Given the description of an element on the screen output the (x, y) to click on. 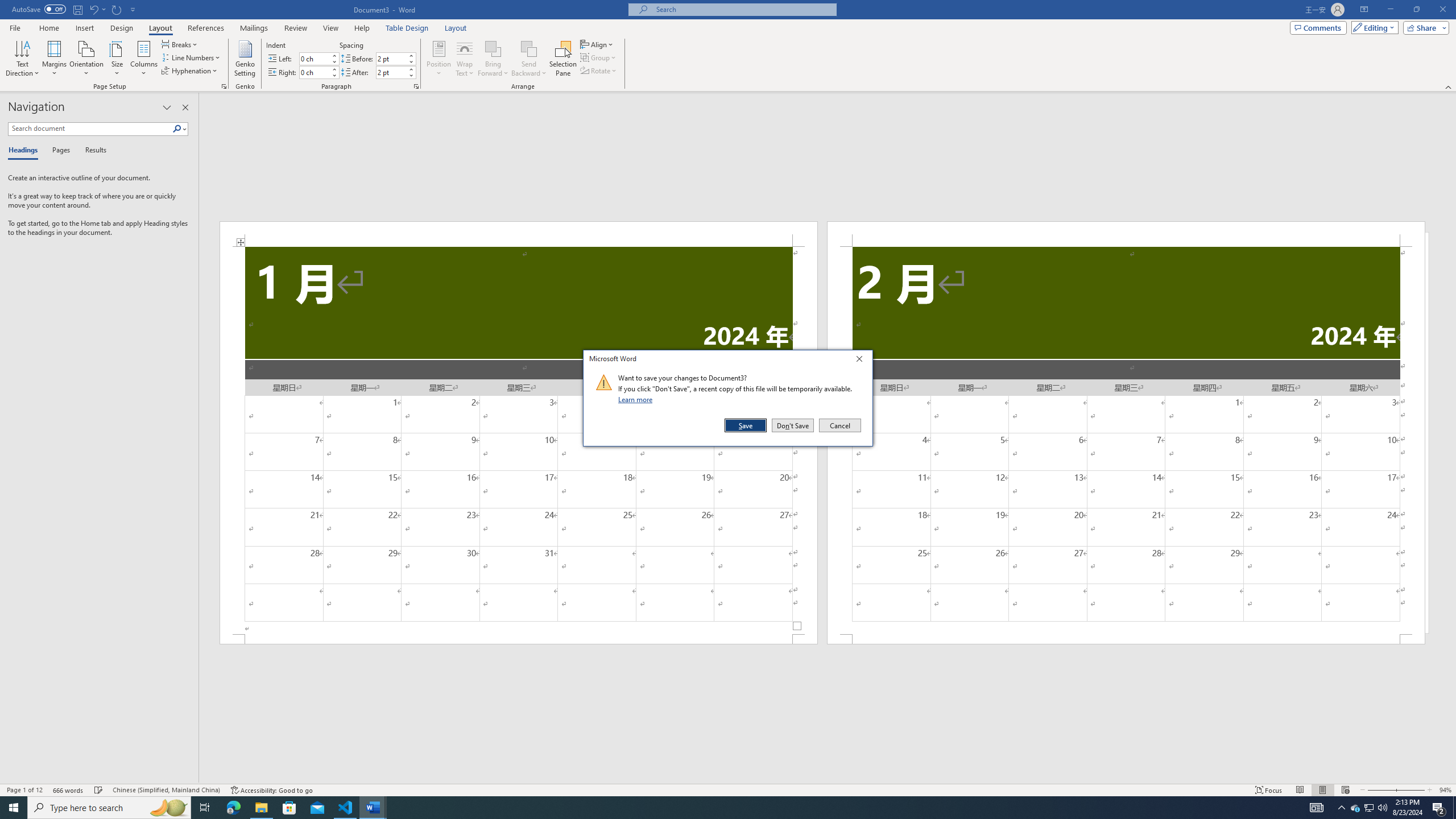
Search (177, 128)
File Explorer - 1 running window (261, 807)
Spelling and Grammar Check Checking (98, 790)
Undo Increase Indent (92, 9)
Table Design (407, 28)
View (330, 28)
Action Center, 2 new notifications (1439, 807)
Class: NetUIScrollBar (827, 778)
Visual Studio Code - 1 running window (345, 807)
Home (48, 28)
Save (746, 425)
Position (438, 58)
Spacing Before (391, 58)
Selection Pane... (563, 58)
